Given the description of an element on the screen output the (x, y) to click on. 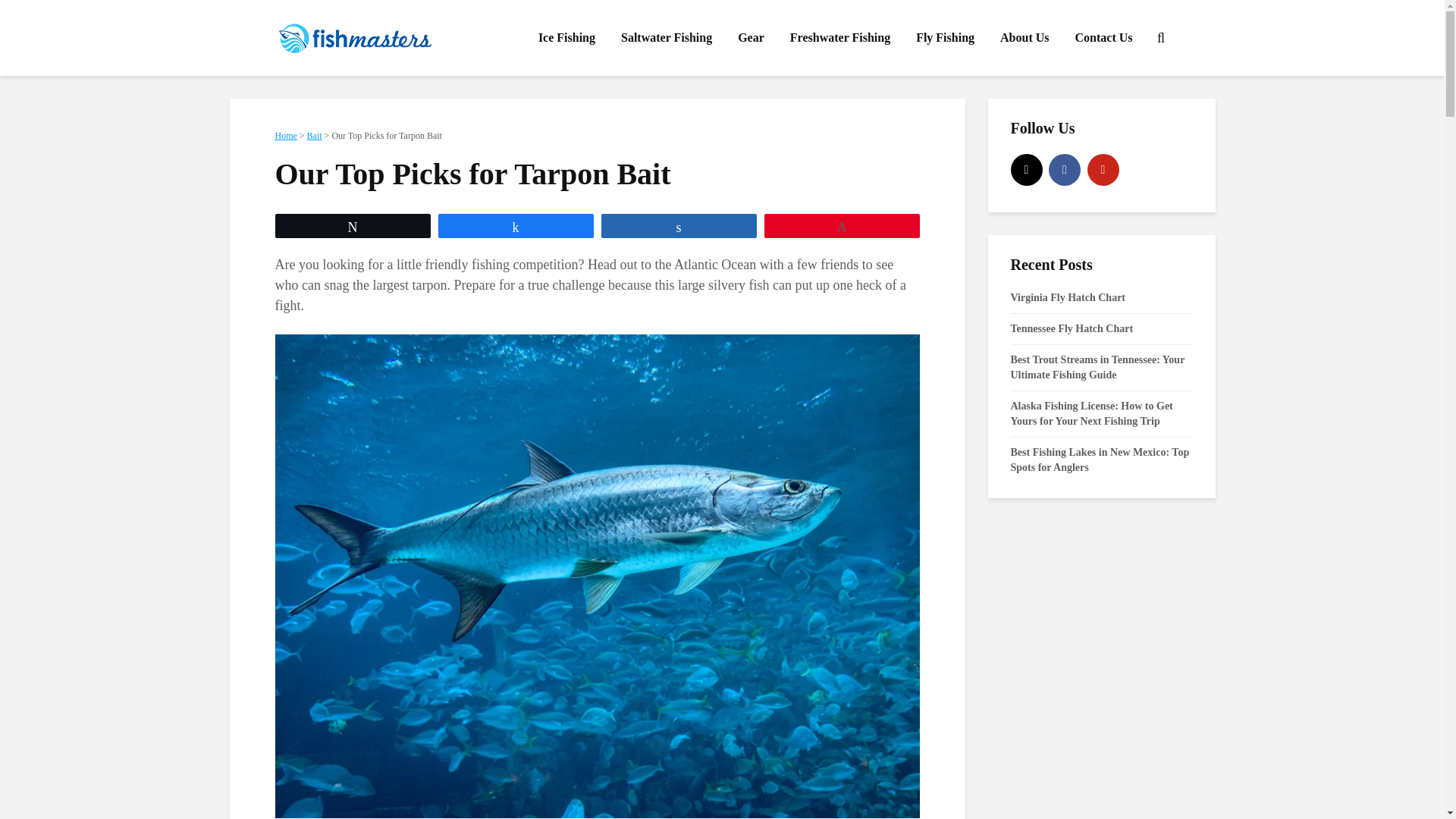
Fly Fishing (944, 37)
Freshwater Fishing (839, 37)
Bait (314, 135)
Facebook (1064, 169)
Go to the Bait category archives. (314, 135)
Saltwater Fishing (666, 37)
About Us (1023, 37)
Pinterest (1103, 169)
Instagram (1026, 169)
Ice Fishing (567, 37)
Go to Home (286, 135)
Home (286, 135)
Gear (751, 37)
Contact Us (1102, 37)
